Given the description of an element on the screen output the (x, y) to click on. 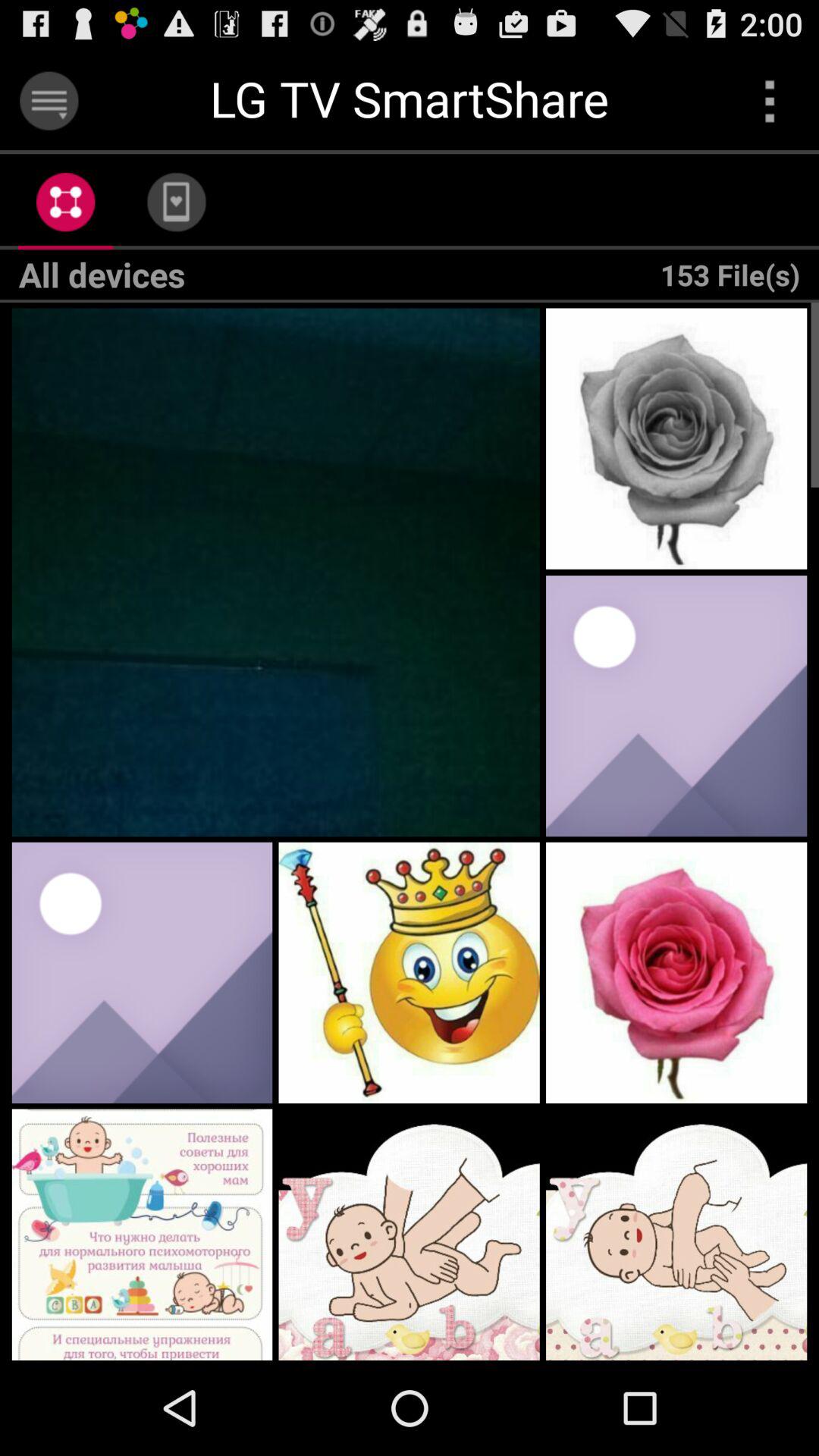
launch app above all devices icon (65, 201)
